Given the description of an element on the screen output the (x, y) to click on. 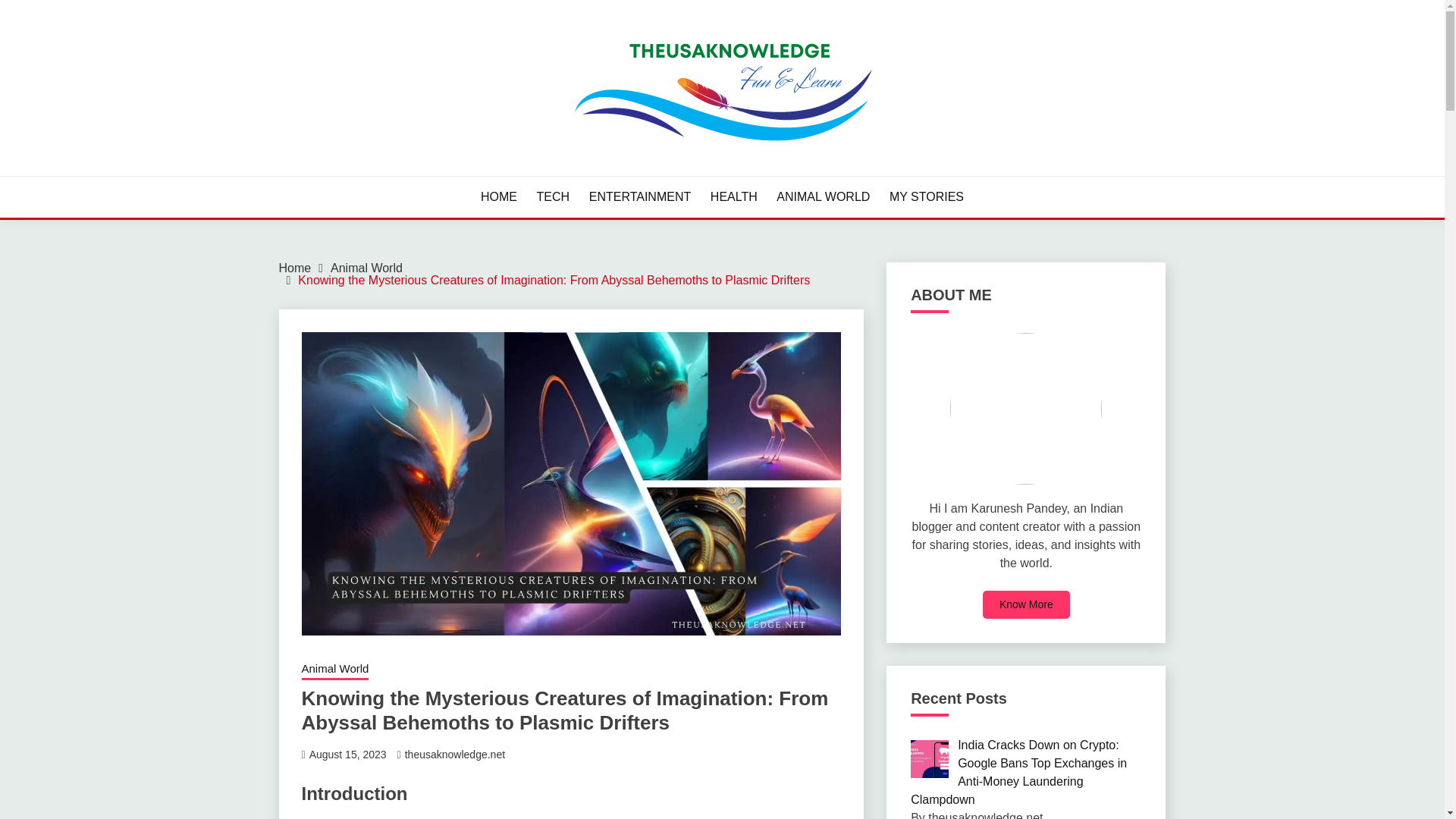
ANIMAL WORLD (822, 197)
HOME (498, 197)
Animal World (335, 670)
Know More (1026, 604)
MY STORIES (926, 197)
Animal World (366, 267)
ENTERTAINMENT (640, 197)
TECH (553, 197)
Home (295, 267)
THEUSAKNOWLEDGE (428, 173)
HEALTH (733, 197)
August 15, 2023 (347, 754)
theusaknowledge.net (454, 754)
